Given the description of an element on the screen output the (x, y) to click on. 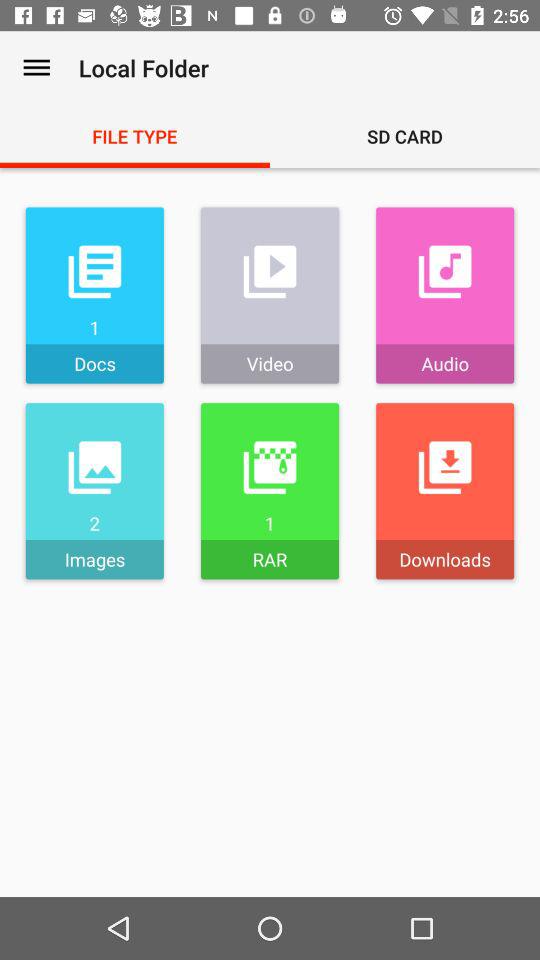
click on icon below audio (444, 490)
